Given the description of an element on the screen output the (x, y) to click on. 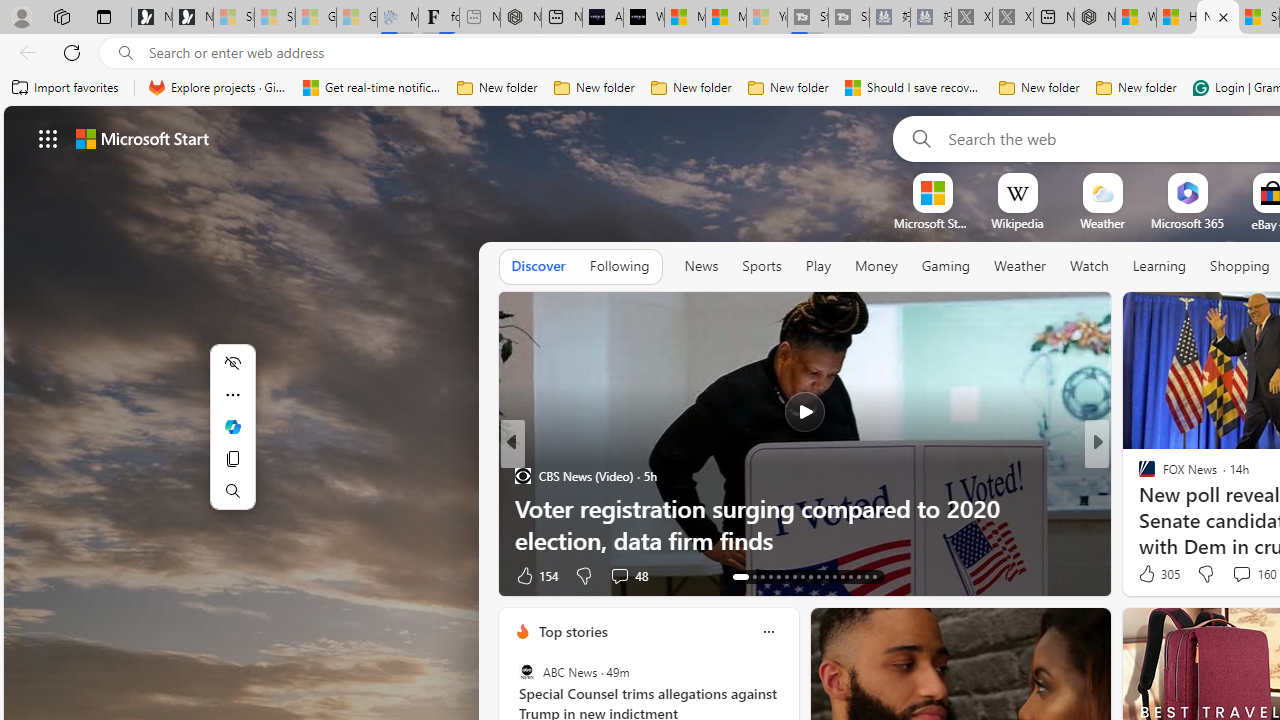
3k Like (1148, 574)
View comments 107 Comment (1247, 574)
View comments 48 Comment (11, 575)
Mini menu on text selection (232, 426)
Class: control (47, 138)
386 Like (1151, 574)
View comments 1k Comment (1236, 574)
Microsoft Start (726, 17)
AutomationID: tab-13 (733, 576)
AutomationID: tab-41 (857, 576)
AutomationID: tab-18 (786, 576)
Following (619, 265)
Sports (761, 267)
Microsoft Start Sports (932, 223)
Gaming (945, 265)
